Given the description of an element on the screen output the (x, y) to click on. 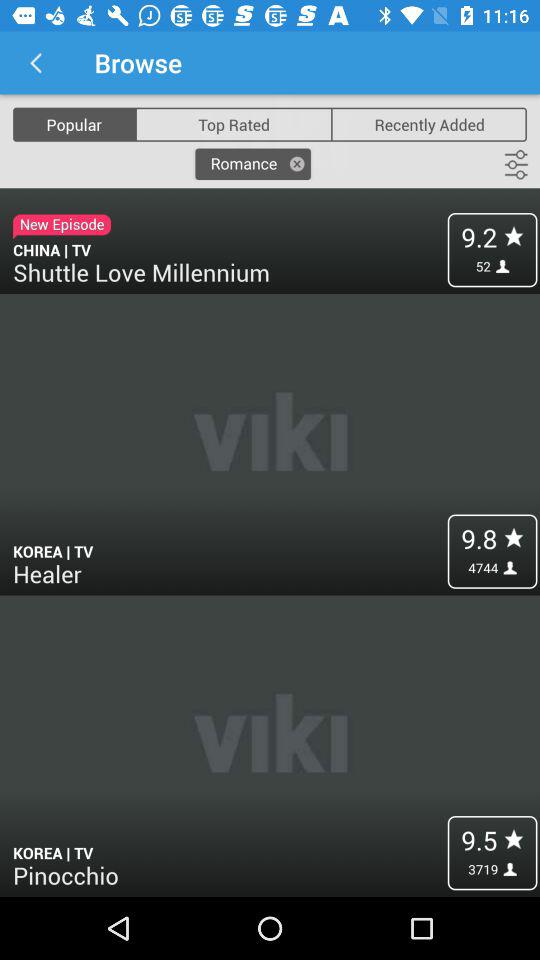
turn off the app next to browse item (36, 62)
